Given the description of an element on the screen output the (x, y) to click on. 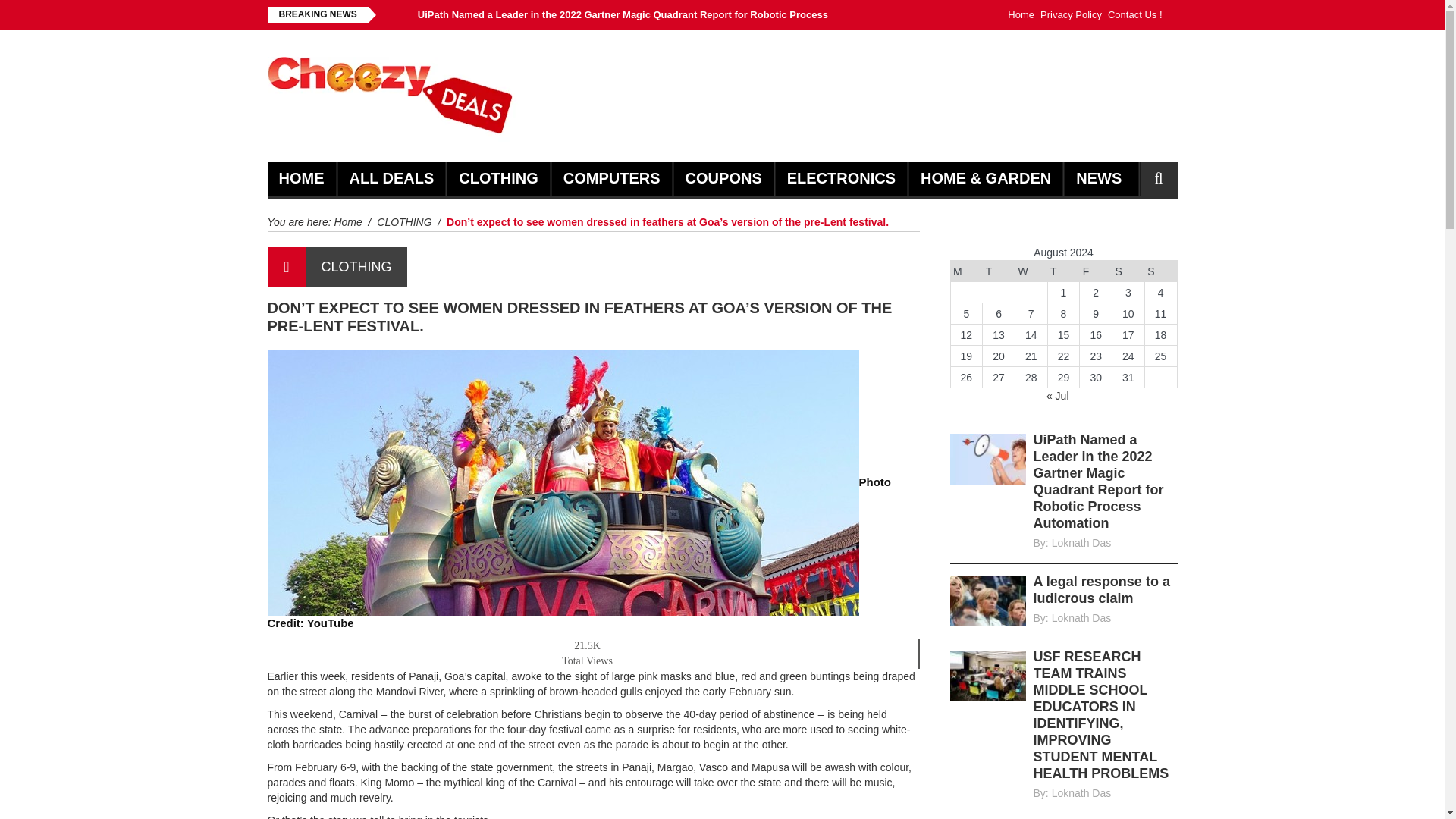
Saturday (1128, 271)
Friday (1096, 271)
COUPONS (723, 178)
ALL DEALS (391, 178)
Monday (966, 271)
Wednesday (1030, 271)
COMPUTERS (612, 178)
Posts by Loknath Das (1081, 542)
Posts by Loknath Das (1081, 793)
Privacy Policy (1071, 15)
